Given the description of an element on the screen output the (x, y) to click on. 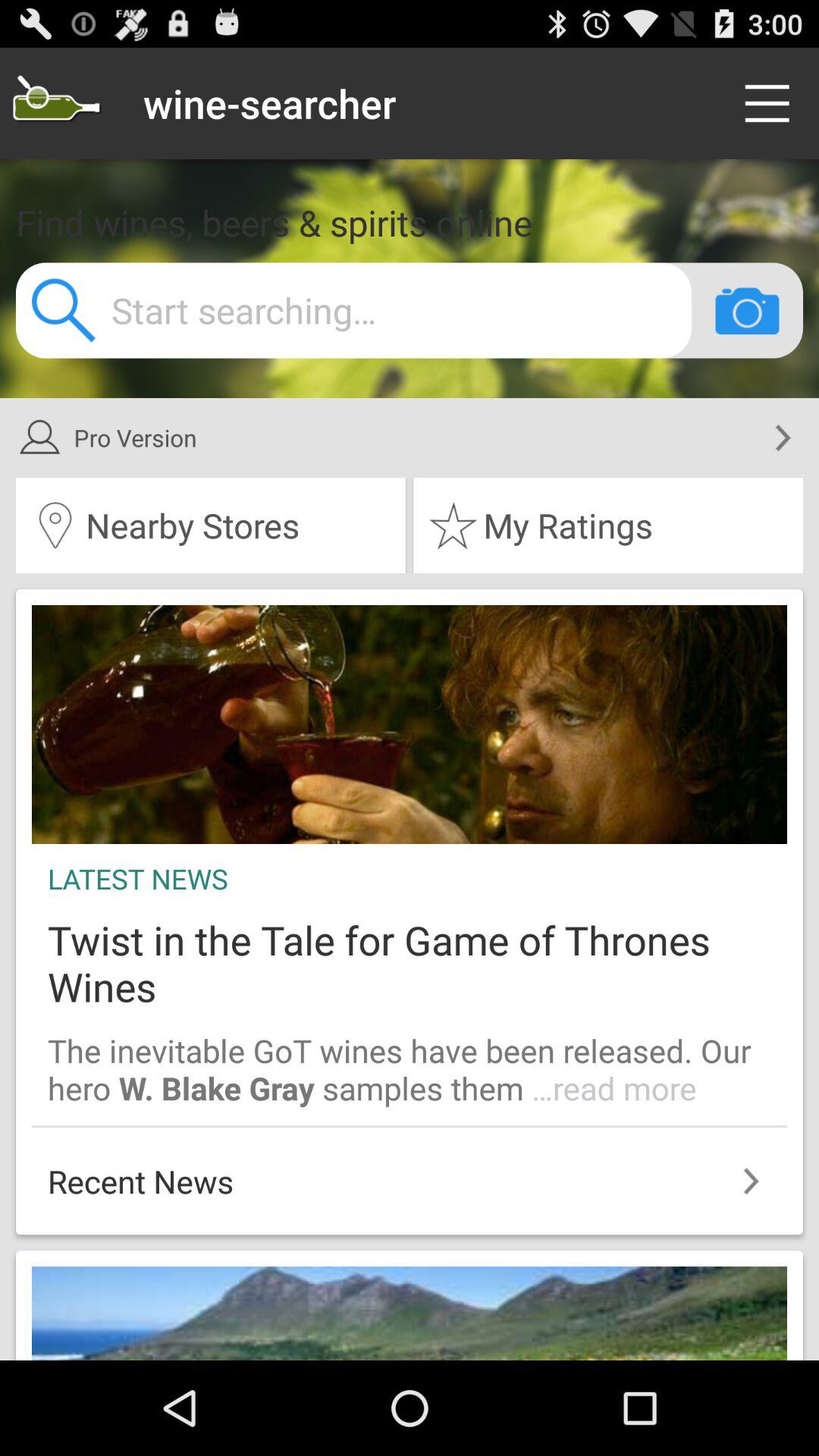
choose the icon below pro version item (608, 525)
